Given the description of an element on the screen output the (x, y) to click on. 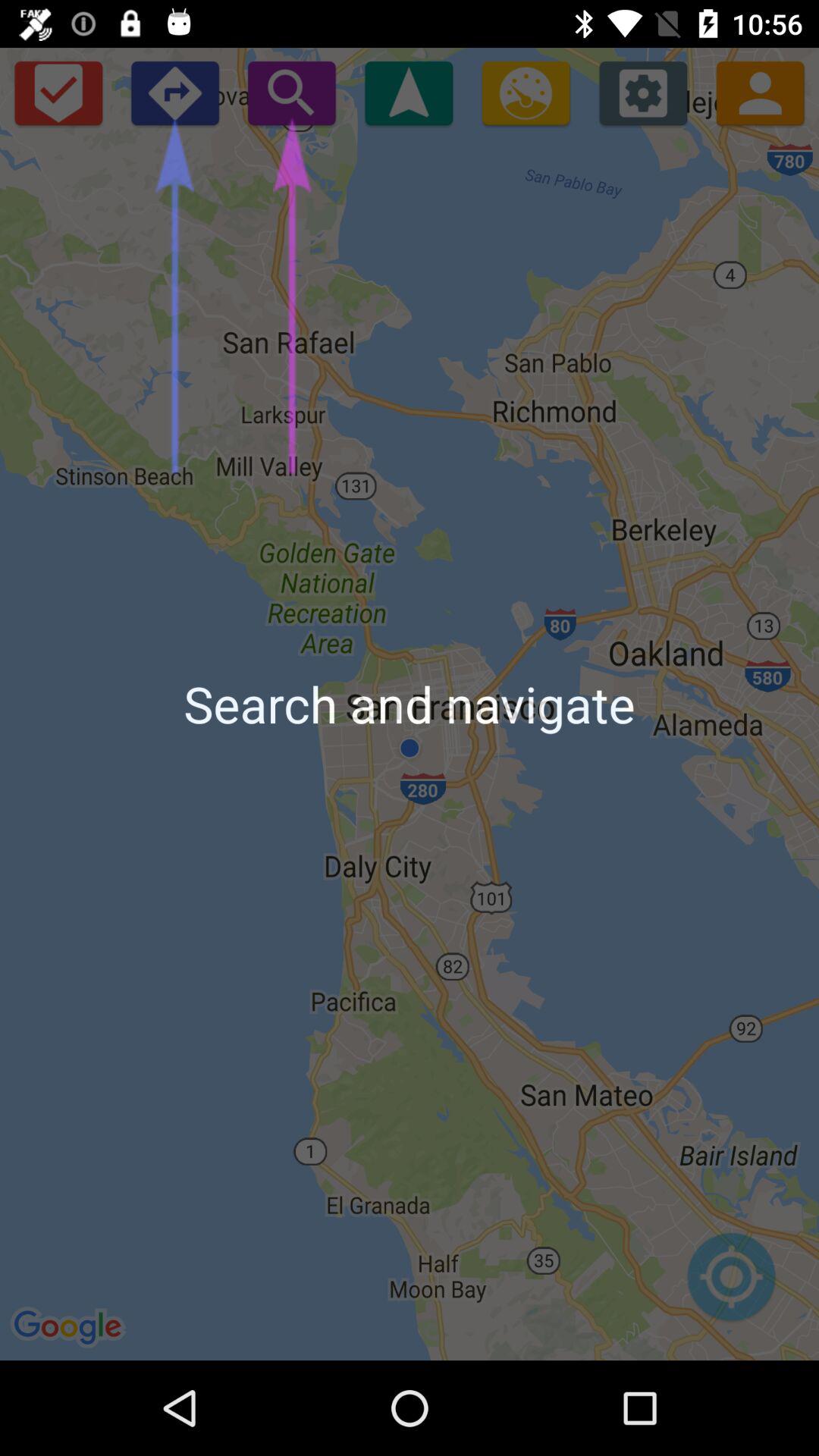
speed toggle (525, 92)
